Given the description of an element on the screen output the (x, y) to click on. 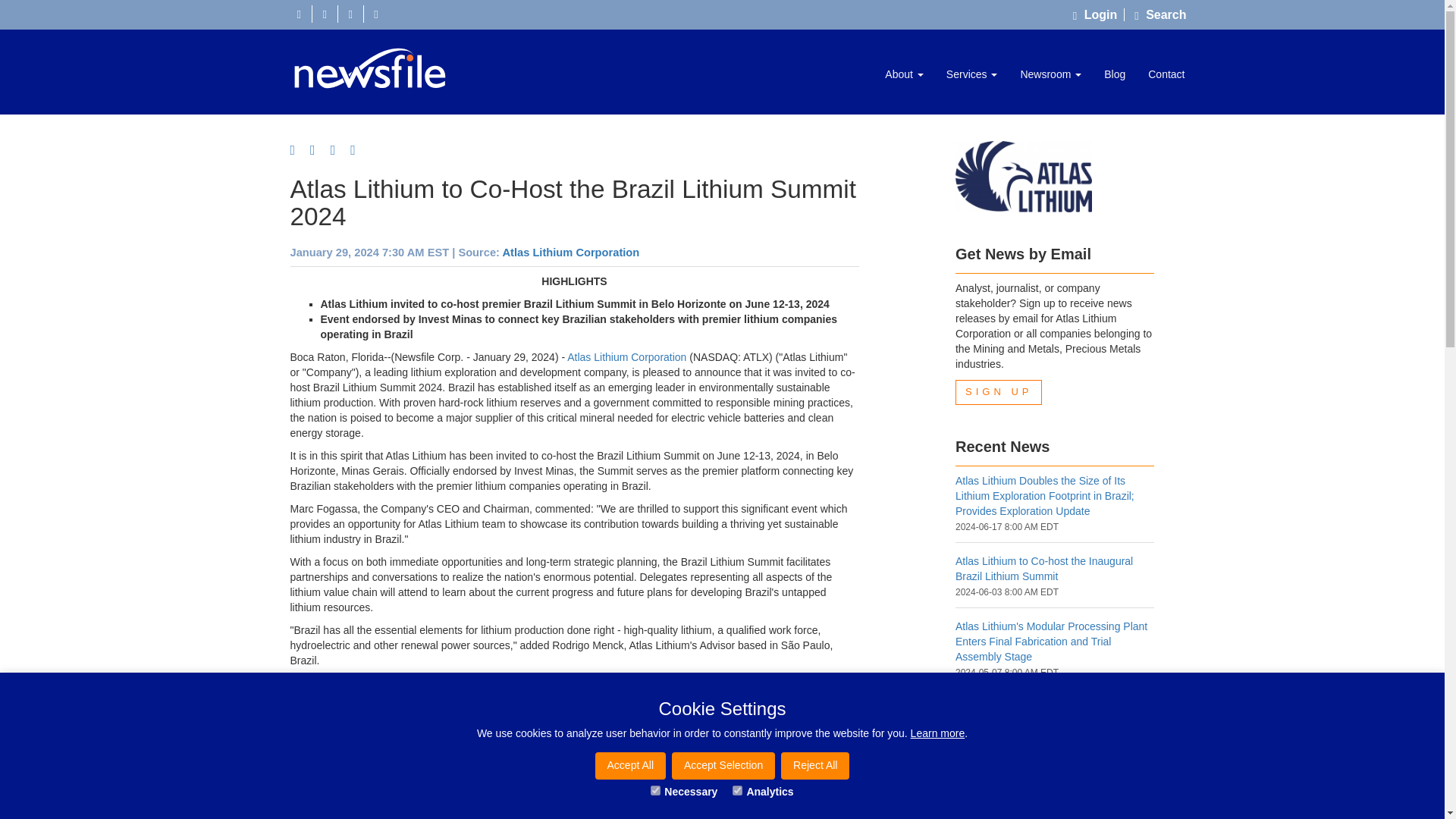
Print this release (358, 150)
About (903, 74)
Accept Selection (722, 765)
Share on LinkedIn (338, 150)
Reject All (814, 765)
Login (1098, 14)
Necessary (655, 790)
Search (1160, 14)
Analytics (737, 790)
Share on X (318, 150)
Accept All (630, 765)
Learn more (938, 733)
Share on Facebook (297, 150)
Services (971, 74)
